Given the description of an element on the screen output the (x, y) to click on. 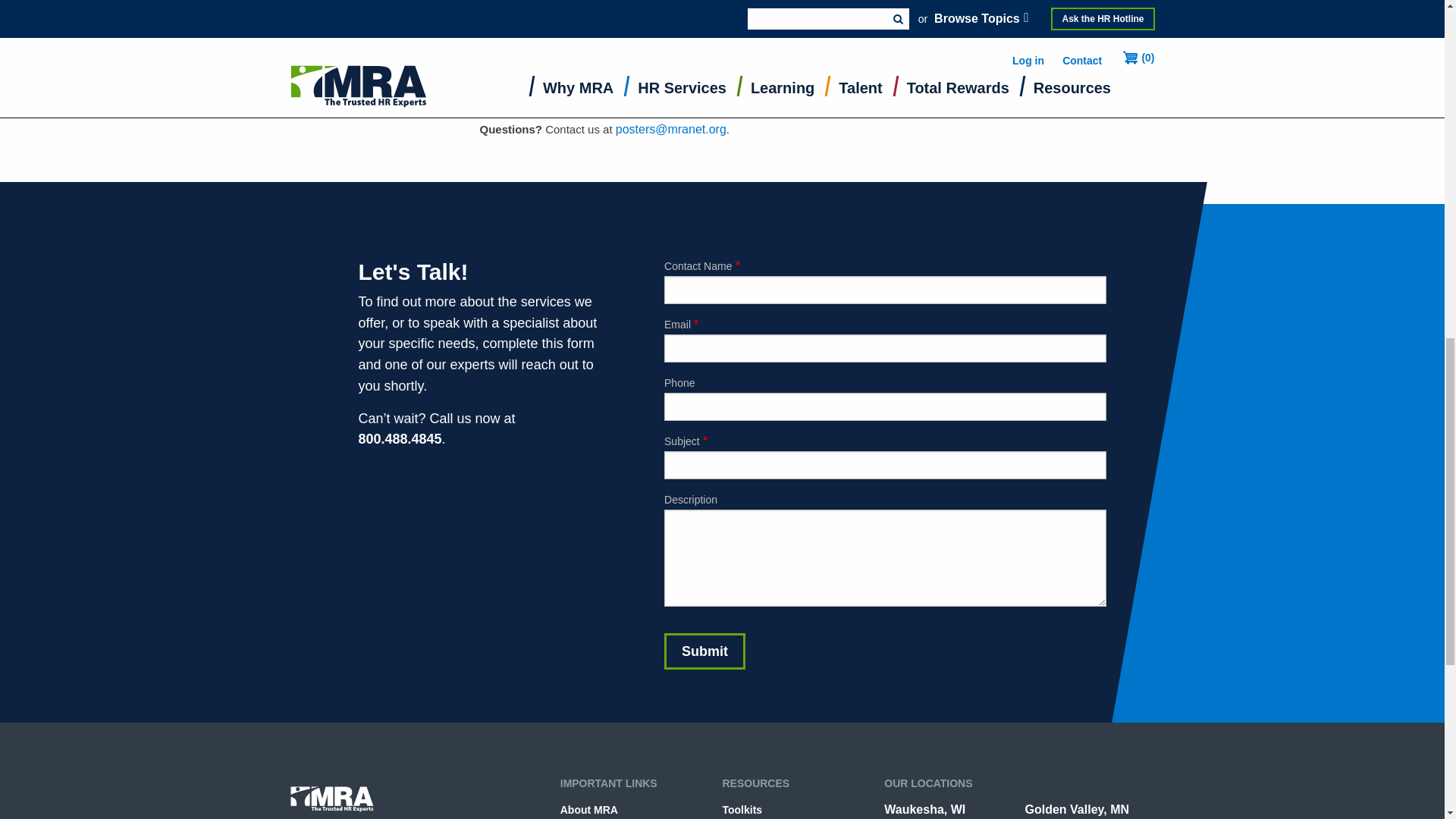
Wisconsin Locations (924, 809)
Minnesota Locations (1077, 809)
